Given the description of an element on the screen output the (x, y) to click on. 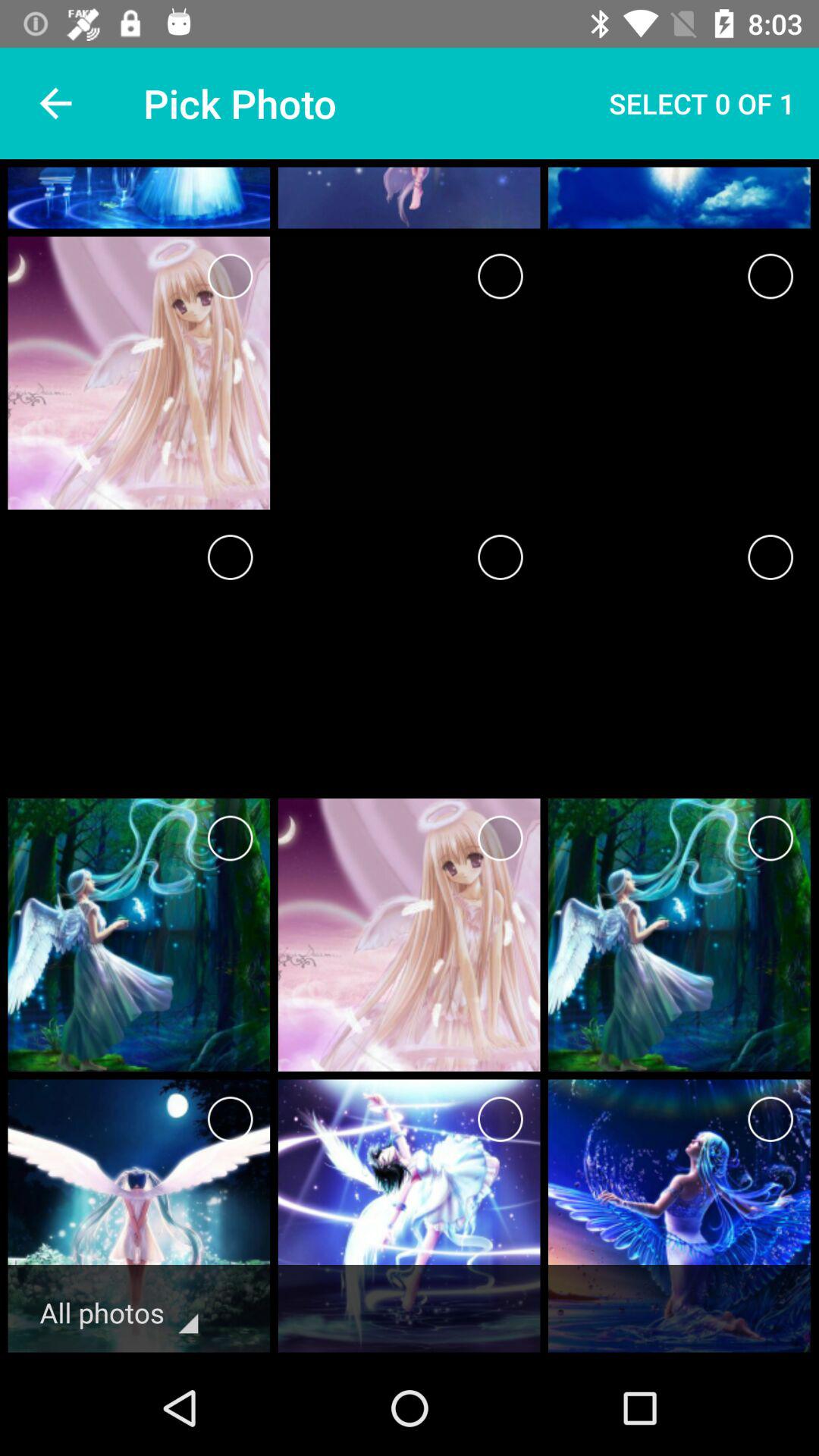
pick image option (770, 276)
